Given the description of an element on the screen output the (x, y) to click on. 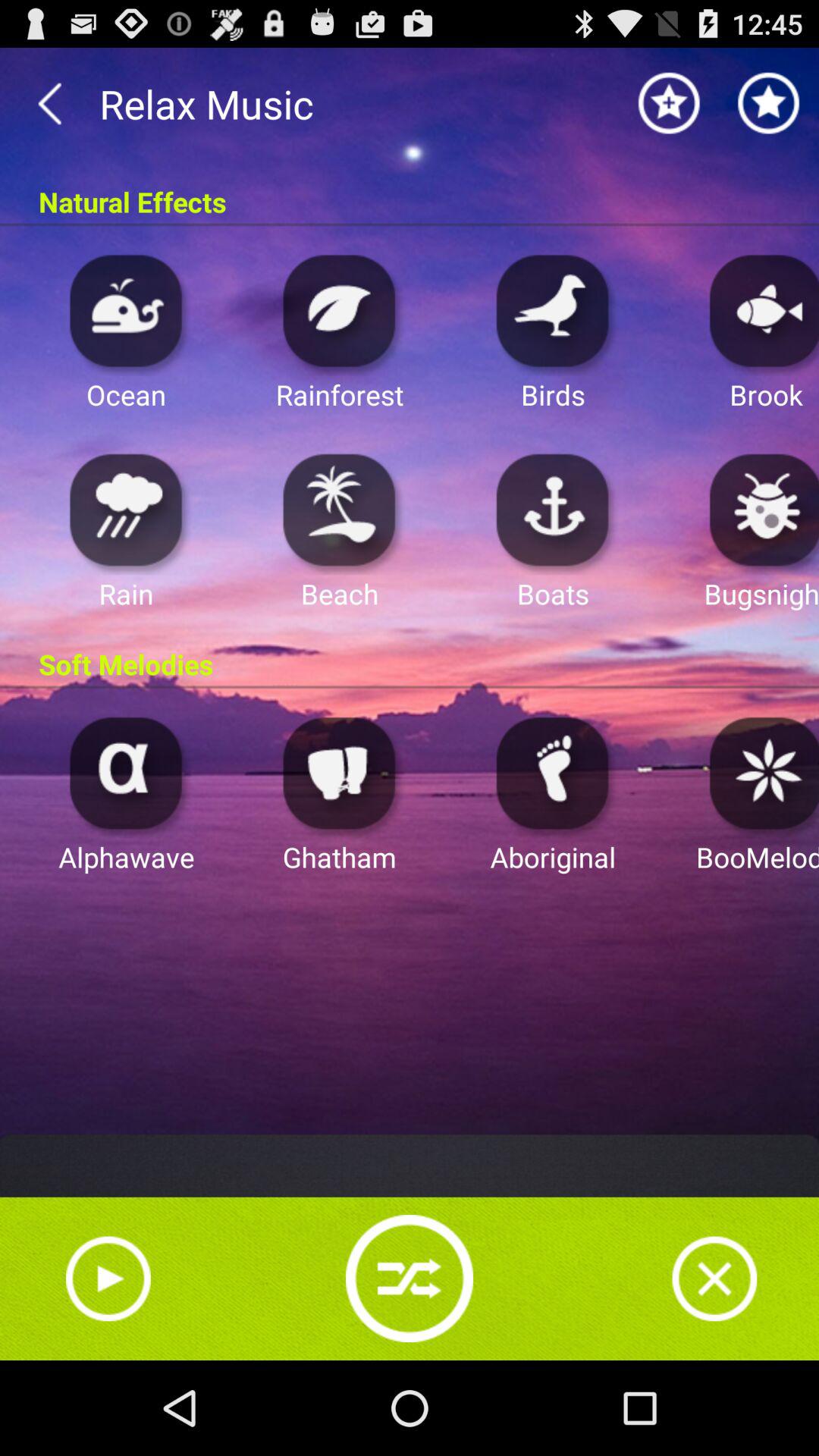
bugs (759, 509)
